Given the description of an element on the screen output the (x, y) to click on. 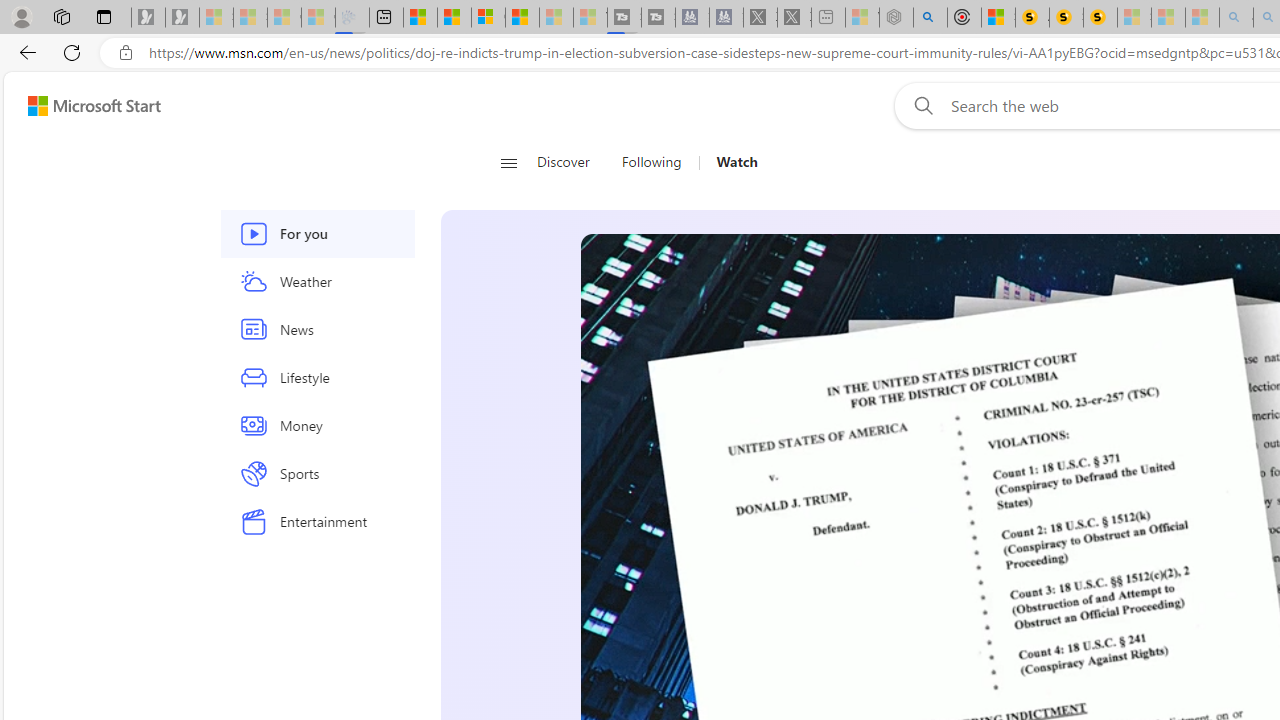
Web search (919, 105)
Nordace - Summer Adventures 2024 - Sleeping (895, 17)
amazon - Search - Sleeping (1236, 17)
Michelle Starr, Senior Journalist at ScienceAlert (1100, 17)
Microsoft Start - Sleeping (556, 17)
